Given the description of an element on the screen output the (x, y) to click on. 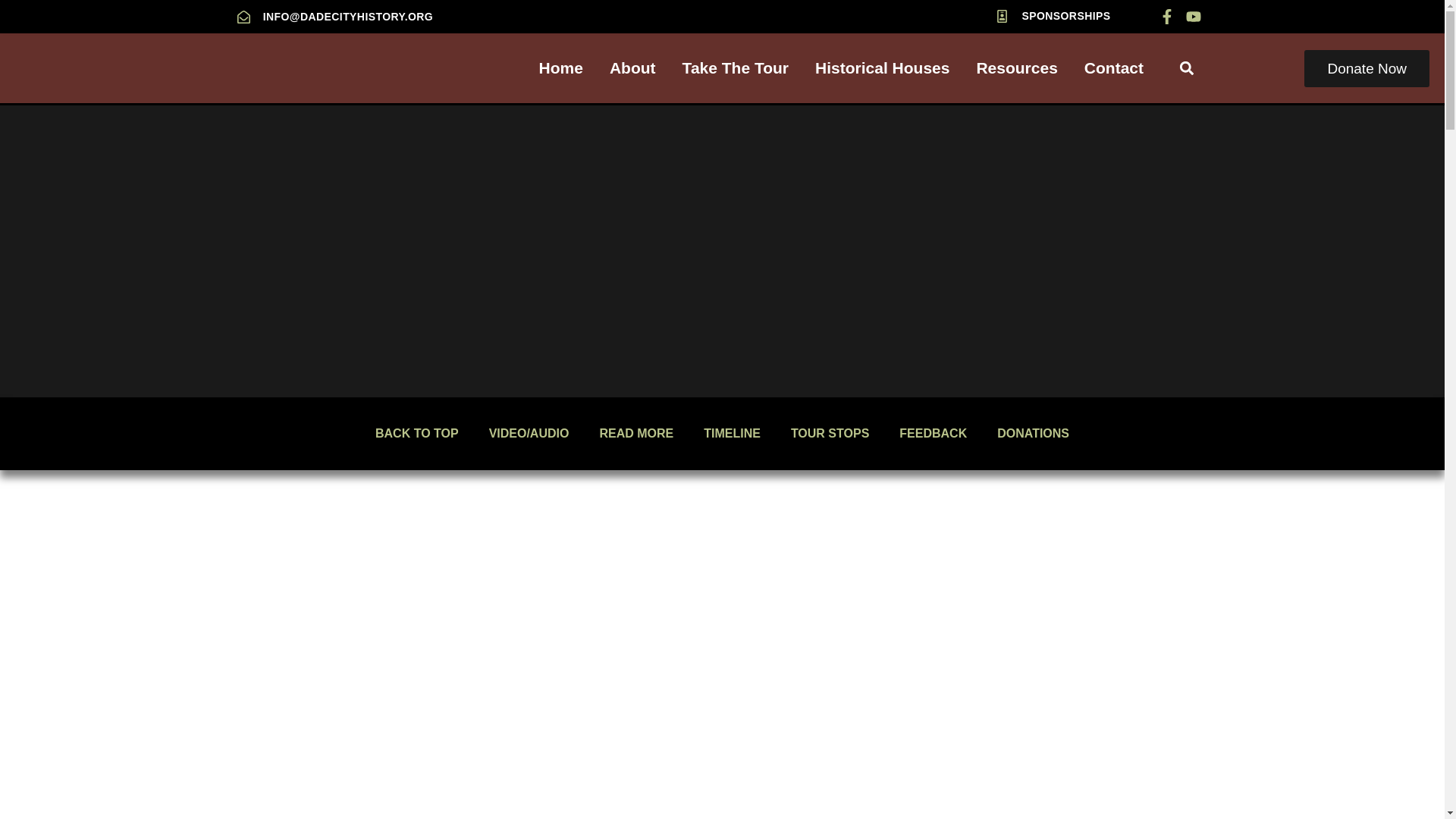
Take The Tour (735, 67)
About (633, 67)
Historical Houses (882, 67)
Contact (1113, 67)
SPONSORSHIPS (1052, 15)
Resources (1016, 67)
BACK TO TOP (416, 433)
Donate Now (1366, 67)
Home (560, 67)
